Given the description of an element on the screen output the (x, y) to click on. 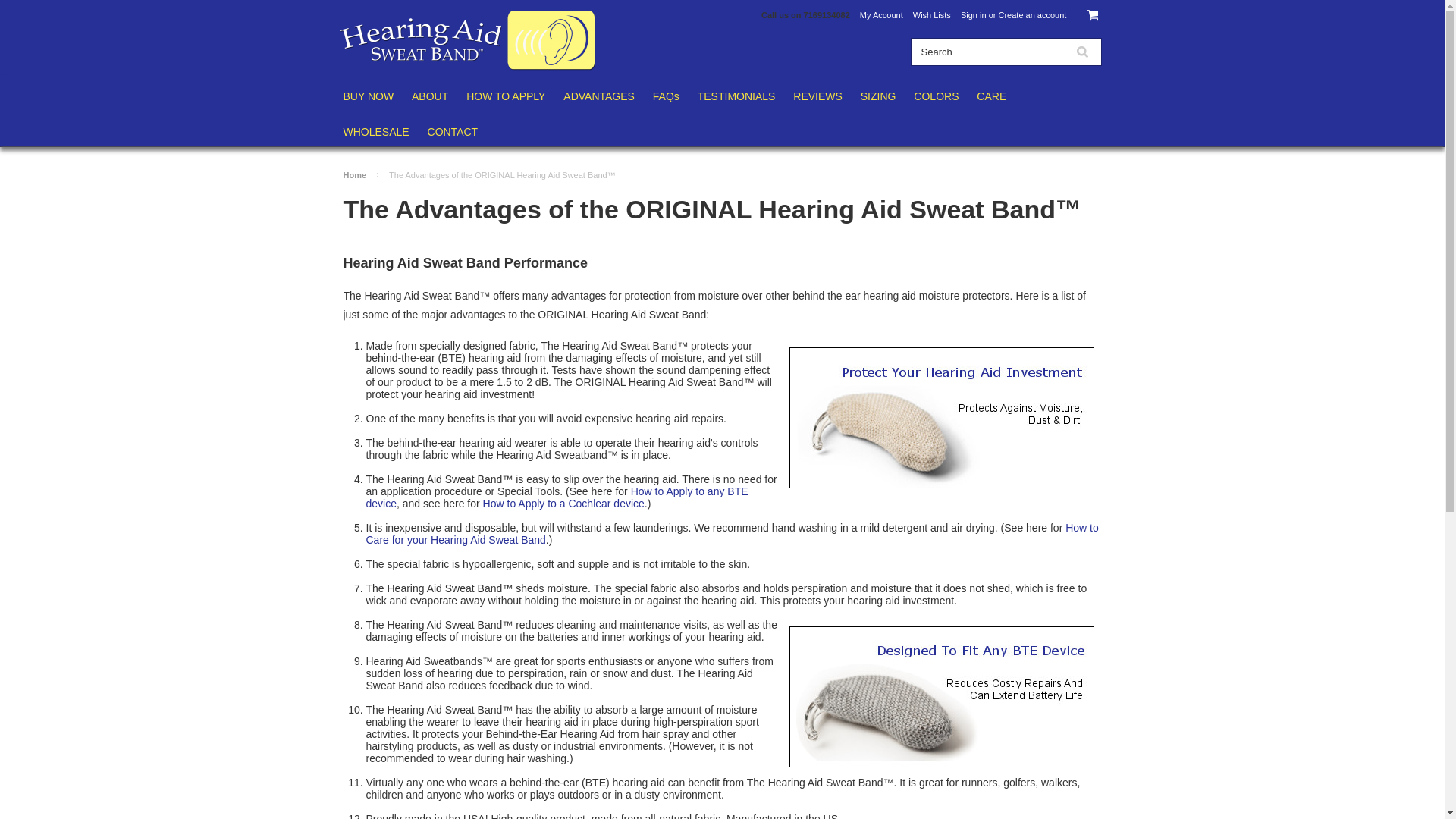
Search (1081, 51)
Wish Lists (931, 14)
How to Care for your Hearing Aid Sweat Band (731, 533)
Search (986, 51)
My Account (881, 14)
